Given the description of an element on the screen output the (x, y) to click on. 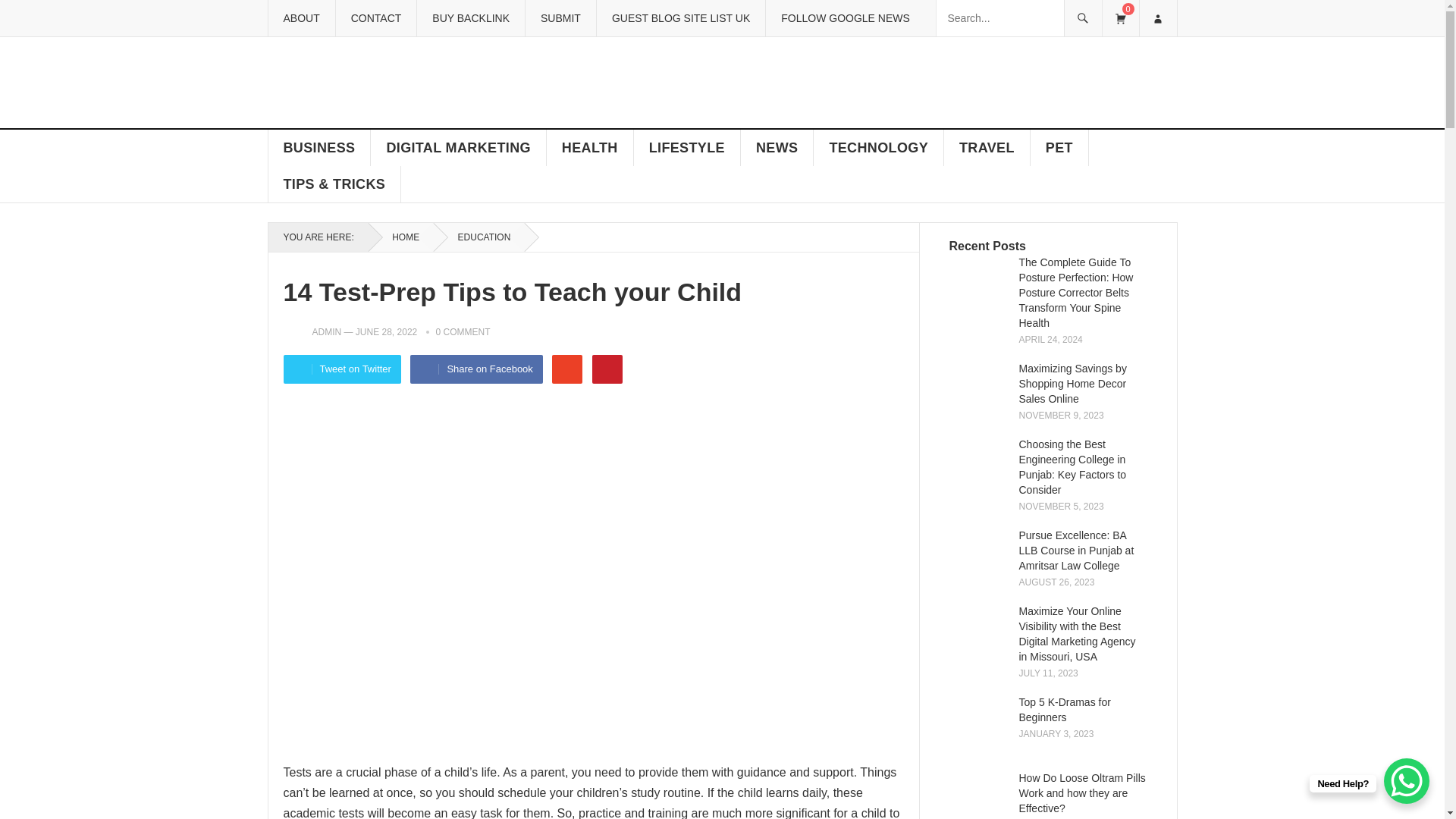
Posts by admin (327, 331)
BUSINESS (319, 147)
HEALTH (590, 147)
DIGITAL MARKETING (458, 147)
View all posts in Education (478, 236)
LIFESTYLE (687, 147)
SUBMIT (559, 18)
ABOUT (300, 18)
GUEST BLOG SITE LIST UK (680, 18)
FOLLOW GOOGLE NEWS (844, 18)
NEWS (777, 147)
BUY BACKLINK (470, 18)
CONTACT (375, 18)
0 (1119, 18)
TECHNOLOGY (878, 147)
